Given the description of an element on the screen output the (x, y) to click on. 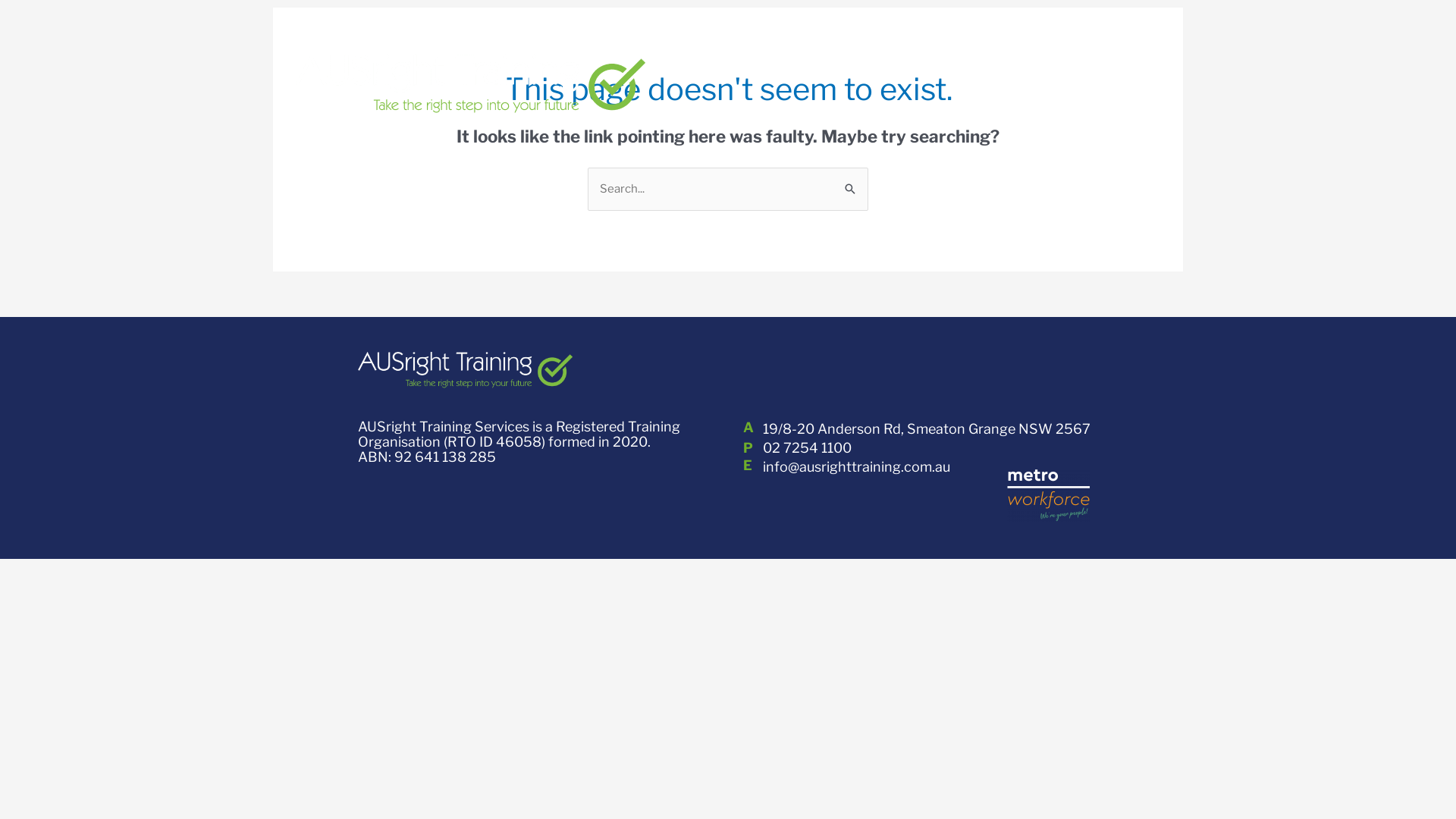
Contact Us Element type: text (1126, 55)
Search Element type: text (851, 188)
Metro Workforce Logo_Tag_Green_white Element type: hover (1048, 494)
All Courses Element type: text (965, 55)
Home Element type: text (884, 55)
info@ausrighttraining.com.au Element type: text (856, 466)
About Element type: text (1047, 55)
